Given the description of an element on the screen output the (x, y) to click on. 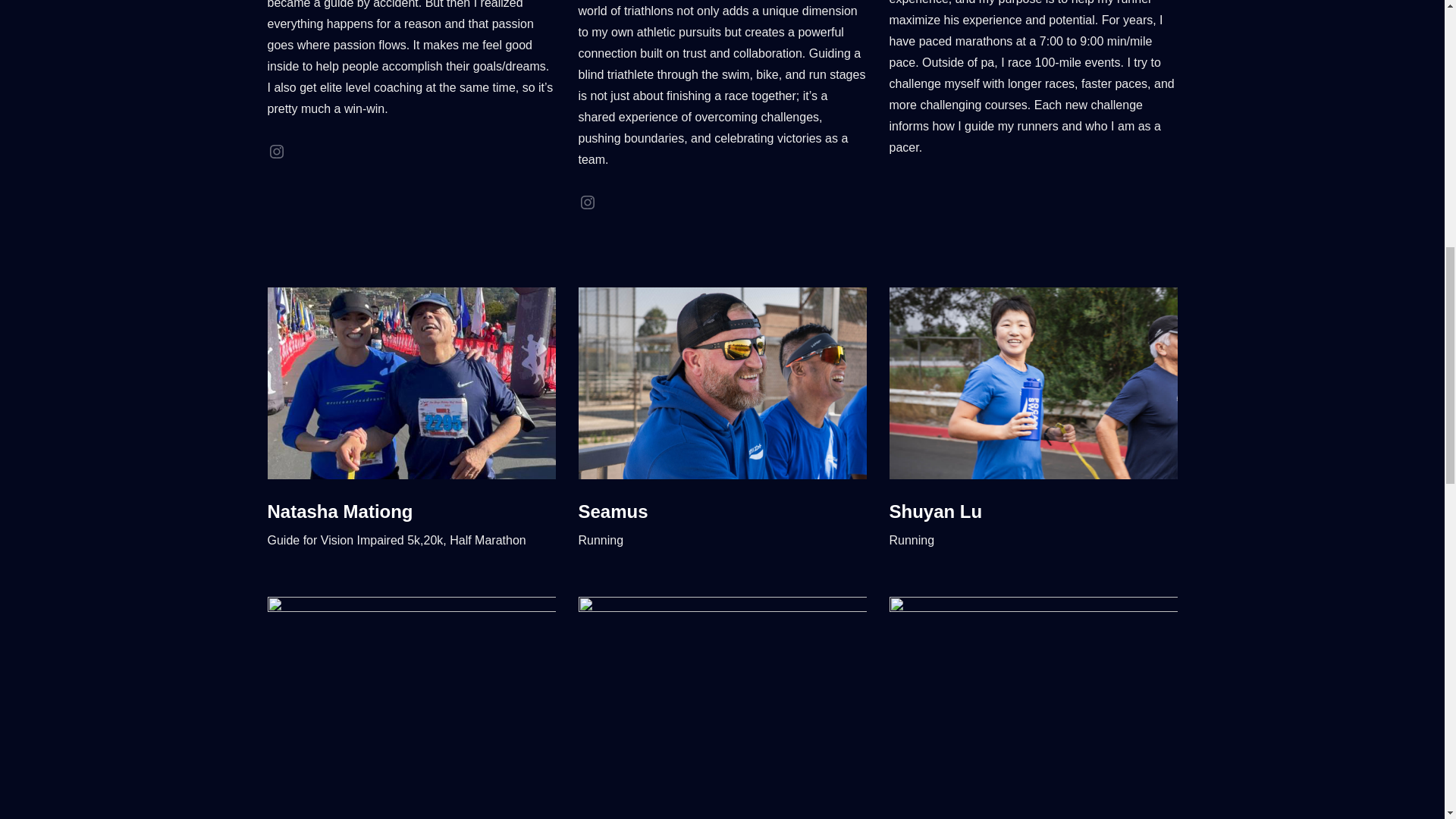
instagram profile link (586, 202)
Instagram (275, 151)
